Given the description of an element on the screen output the (x, y) to click on. 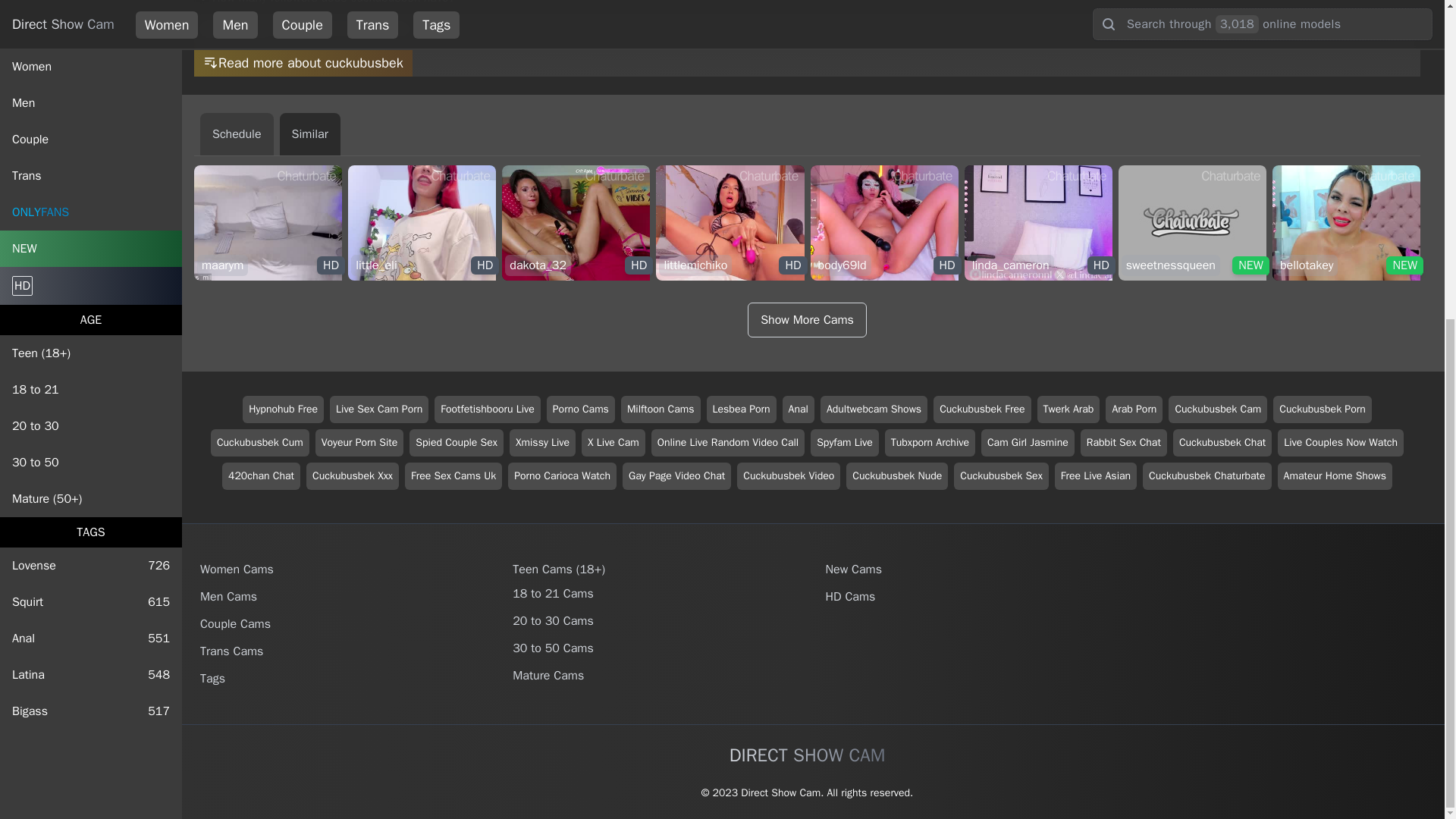
Chaturbate (306, 175)
Chaturbate (91, 195)
Chaturbate (91, 85)
Chaturbate (614, 175)
Chaturbate (91, 122)
Read more about cuckubusbek (91, 49)
